Given the description of an element on the screen output the (x, y) to click on. 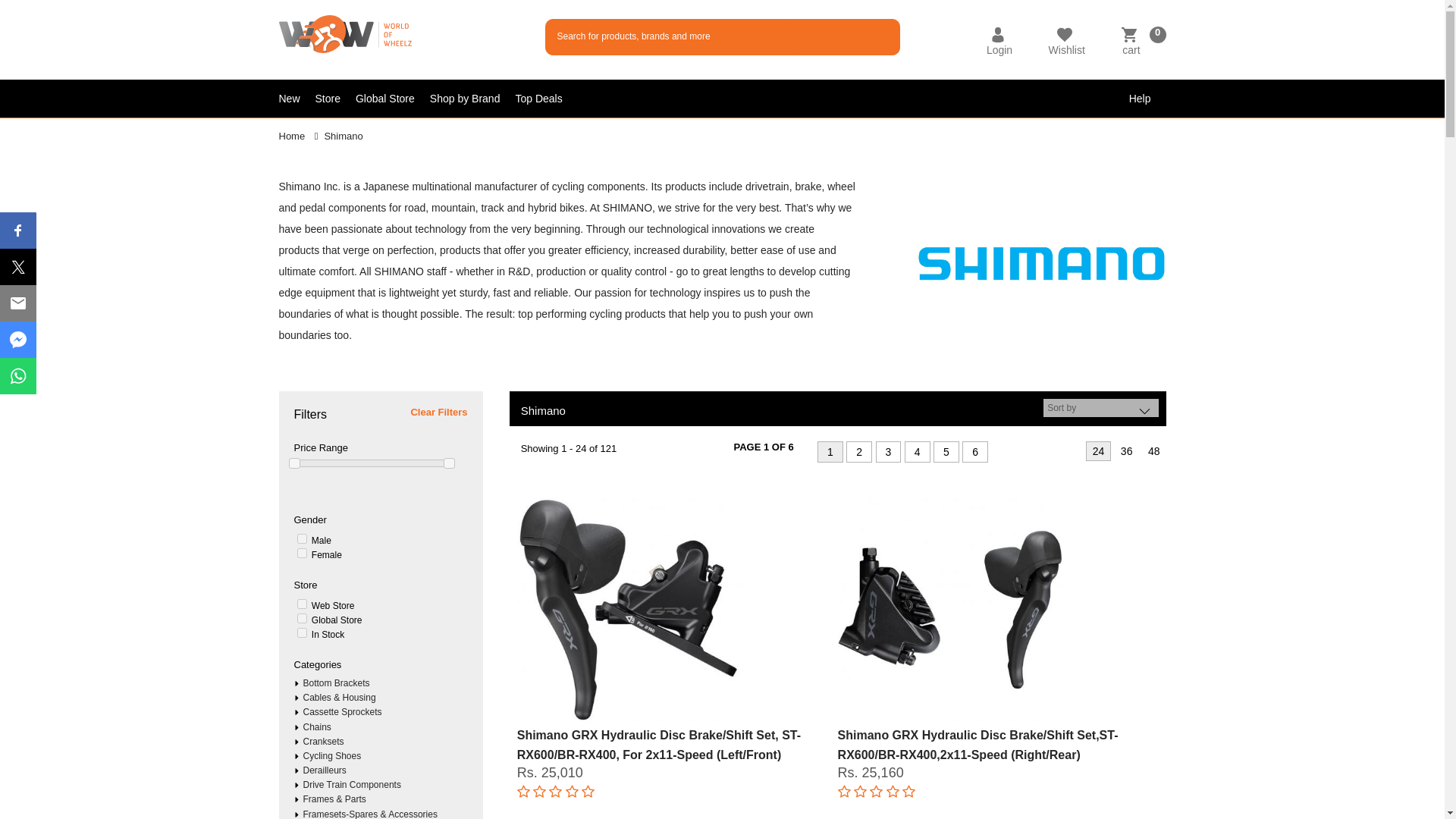
New (297, 98)
Wishlist (1066, 49)
0 (302, 538)
cart (1130, 49)
Store (335, 98)
instock (302, 633)
global (302, 618)
1 (302, 552)
stock (302, 603)
Login (999, 49)
